Given the description of an element on the screen output the (x, y) to click on. 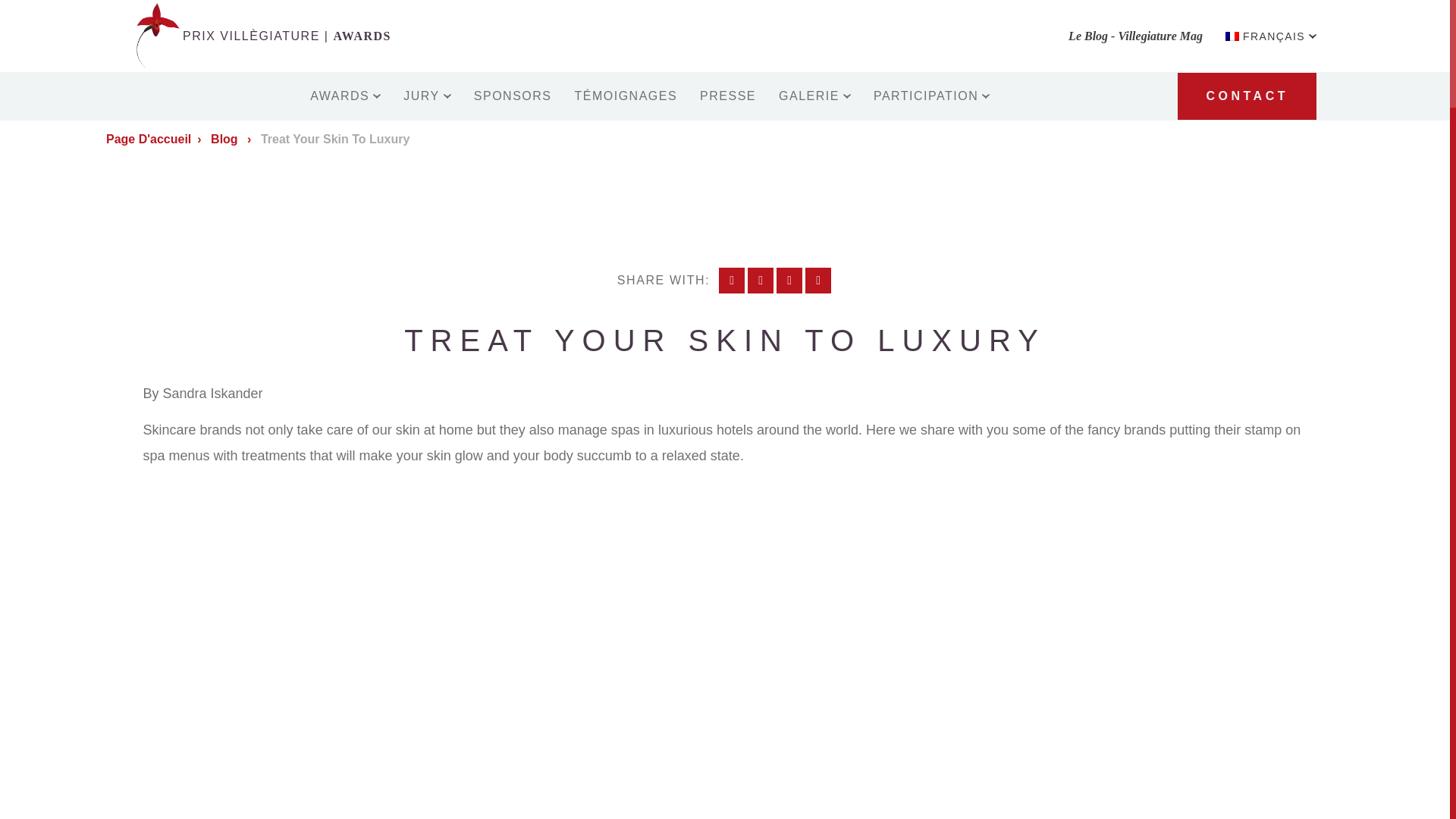
SPONSORS (512, 96)
GALERIE (814, 96)
CONTACT (1246, 95)
AWARDS (345, 96)
PRESSE (727, 96)
PARTICIPATION (931, 96)
JURY (427, 96)
Le Blog - Villegiature Mag (1135, 35)
